Given the description of an element on the screen output the (x, y) to click on. 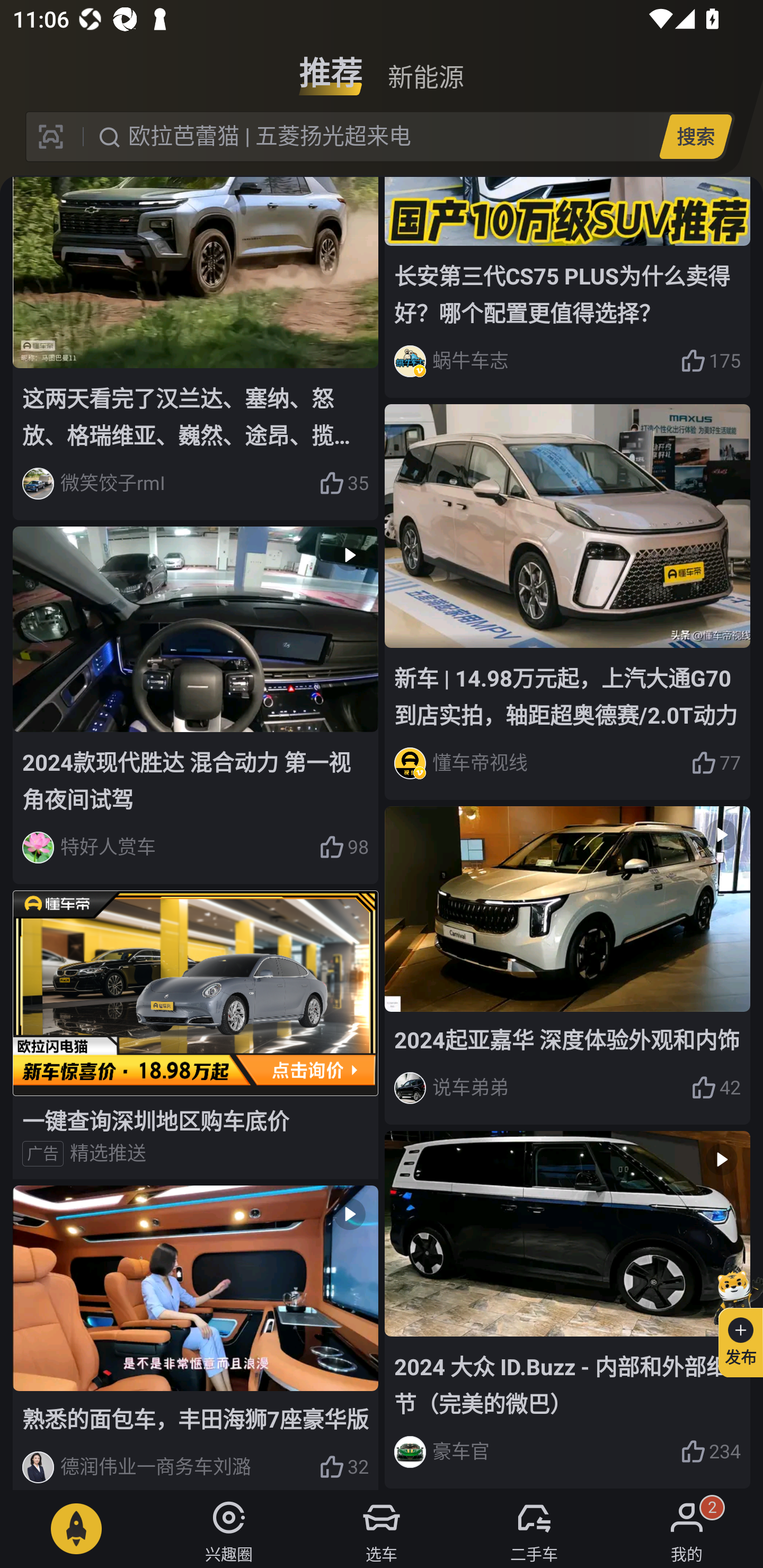
推荐 (330, 65)
新能源 (425, 65)
搜索 (695, 136)
长安第三代CS75 PLUS为什么卖得好？哪个配置更值得选择？ 蜗牛车志 175 (567, 287)
175 (710, 361)
新车 | 14.98万元起，上汽大通G70到店实拍，轴距超奥德赛/2.0T动力 懂车帝视线 77 (567, 601)
35 (343, 483)
 2024款现代胜达 混合动力 第一视角夜间试驾 特好人赏车 98 (195, 705)
77 (715, 763)
 2024起亚嘉华 深度体验外观和内饰 说车弟弟 42 (567, 964)
98 (343, 847)
一键查询深圳地区购车底价 广告 精选推送 (195, 1034)
42 (715, 1087)
 2024 大众 ID.Buzz - 内部和外部细节（完美的微巴） 豪车官 234 (567, 1309)
 熟悉的面包车，丰田海狮7座豪华版 德润伟业一商务车刘潞 32 (195, 1337)
发布 (732, 1321)
234 (710, 1451)
32 (343, 1466)
 兴趣圈 (228, 1528)
 选车 (381, 1528)
 二手车 (533, 1528)
 我的 (686, 1528)
